Given the description of an element on the screen output the (x, y) to click on. 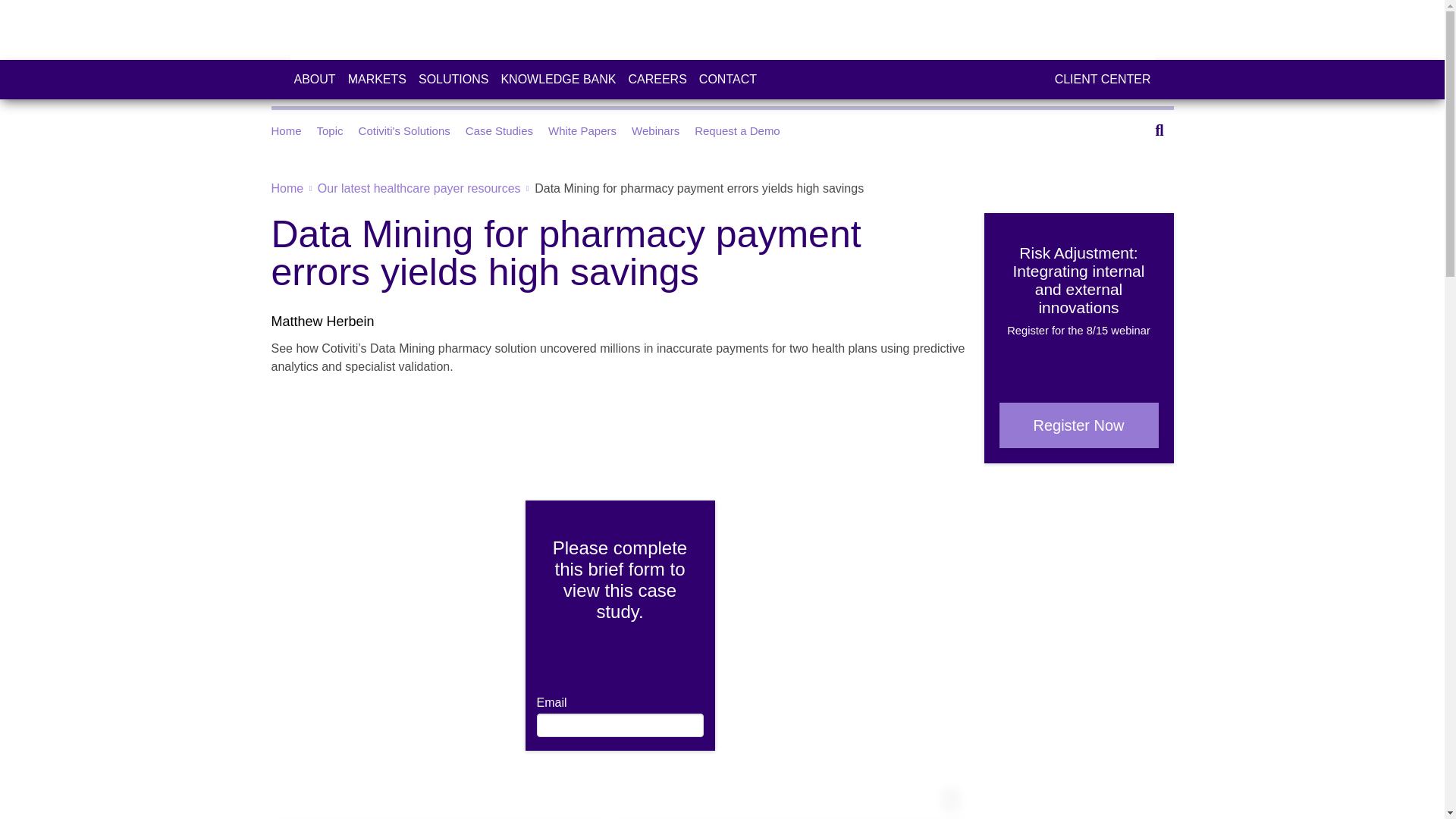
ABOUT (315, 78)
MARKETS (376, 78)
Author (322, 322)
SOLUTIONS (453, 78)
Open Search Box (1155, 130)
